Given the description of an element on the screen output the (x, y) to click on. 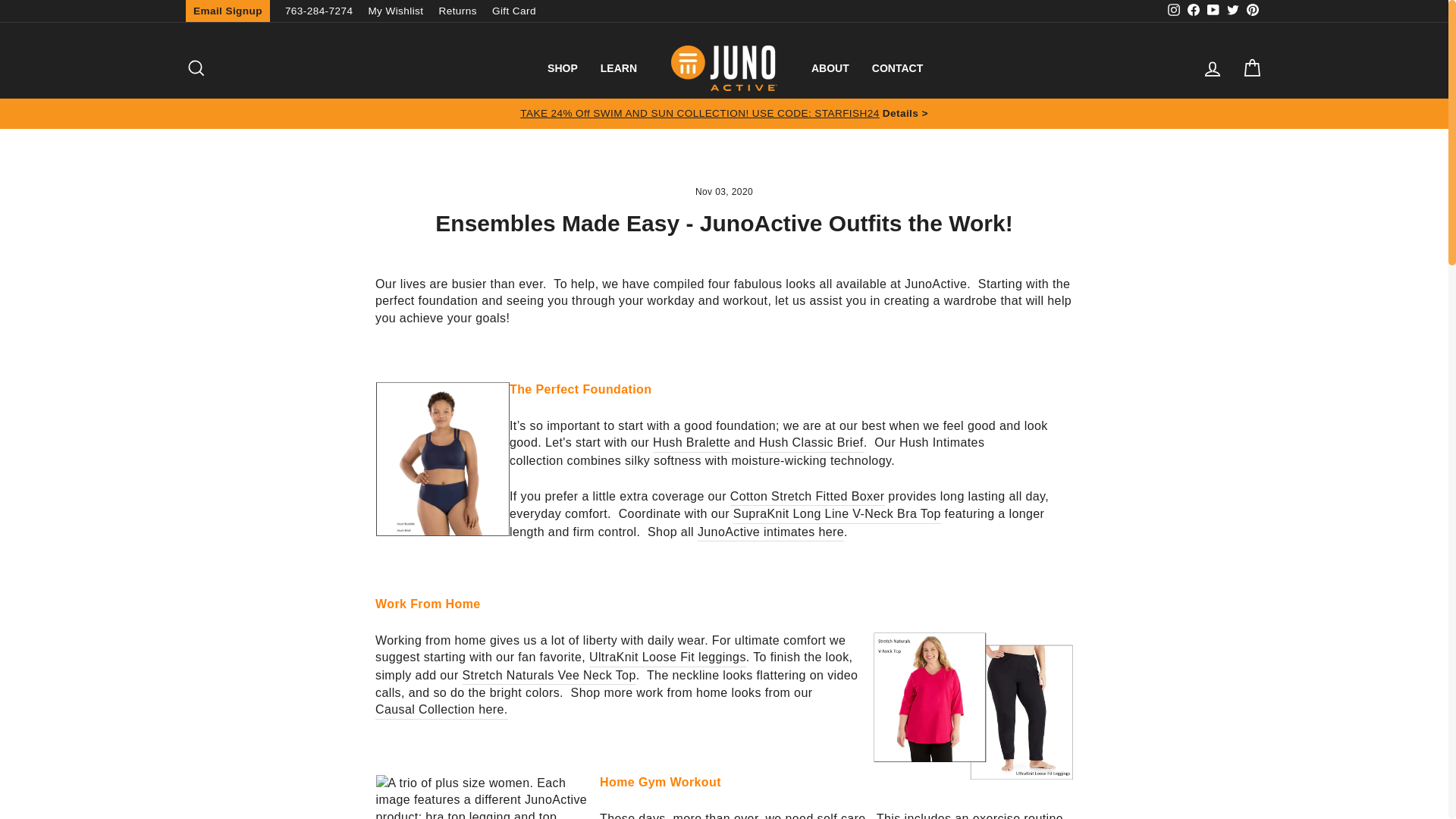
JunoActive hush bralette (691, 443)
JunoActive Stretch Naturals Vneck Top (549, 675)
JunoActive UltraKnit Loose Fit Leggings (667, 657)
JunoActive on Twitter (1233, 11)
JunoActive SupraKnit Long Line V-Neck Bra Top (836, 514)
JunoActive Hush Brief (810, 443)
JunoActive on Pinterest (1252, 11)
JunoActive on Instagram (1173, 11)
JunoActive on Facebook (1193, 11)
JunoActive Cotton Stretch Fitted Boxer (807, 497)
